Given the description of an element on the screen output the (x, y) to click on. 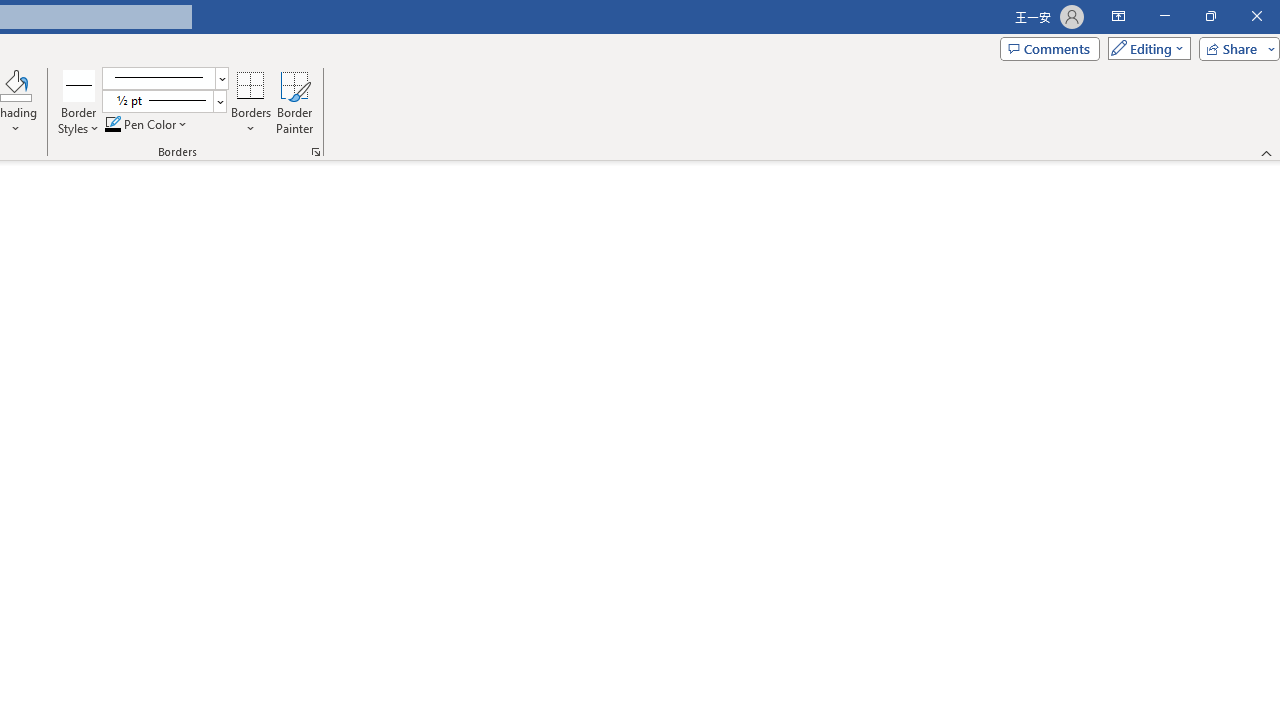
Pen Style (165, 78)
Share (1235, 48)
Borders and Shading... (315, 151)
Pen Weight (164, 101)
Collapse the Ribbon (1267, 152)
More Options (251, 121)
Restore Down (1210, 16)
